Given the description of an element on the screen output the (x, y) to click on. 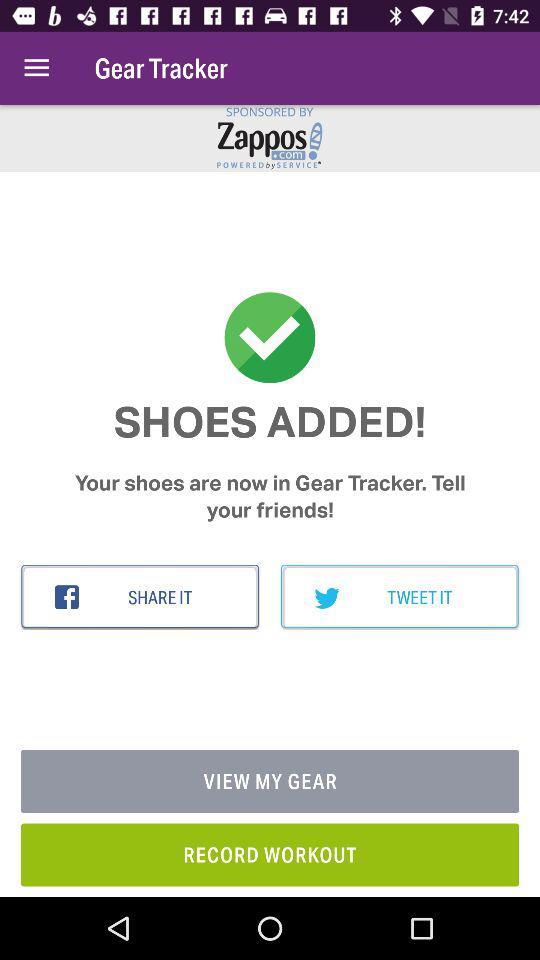
turn on the tweet it icon (399, 597)
